Given the description of an element on the screen output the (x, y) to click on. 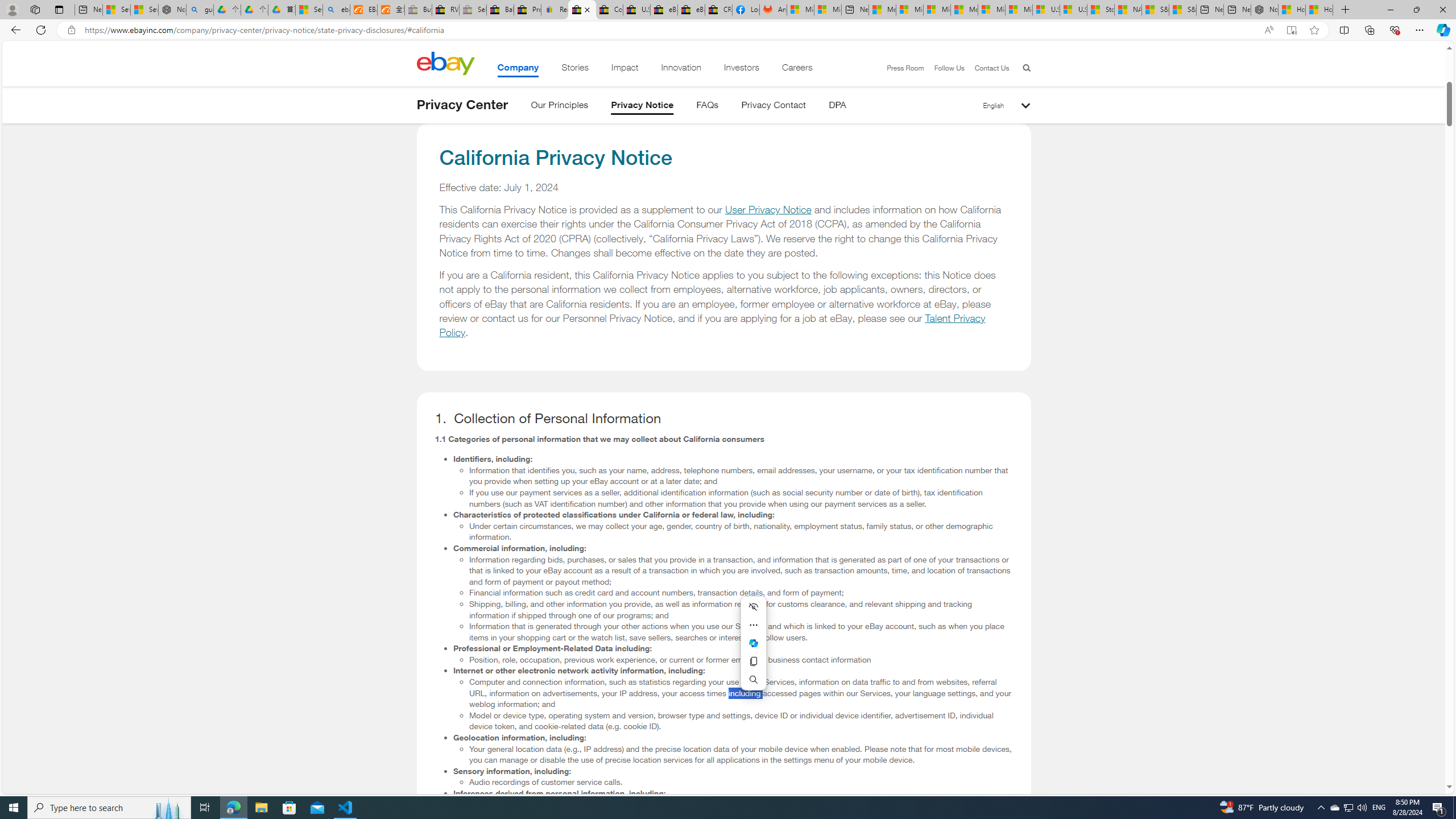
eBay Inc. Reports Third Quarter 2023 Results (691, 9)
guge yunpan - Search (200, 9)
Baby Keepsakes & Announcements for sale | eBay (499, 9)
DPA (836, 107)
Our Principles (558, 107)
Hide menu (753, 606)
